Given the description of an element on the screen output the (x, y) to click on. 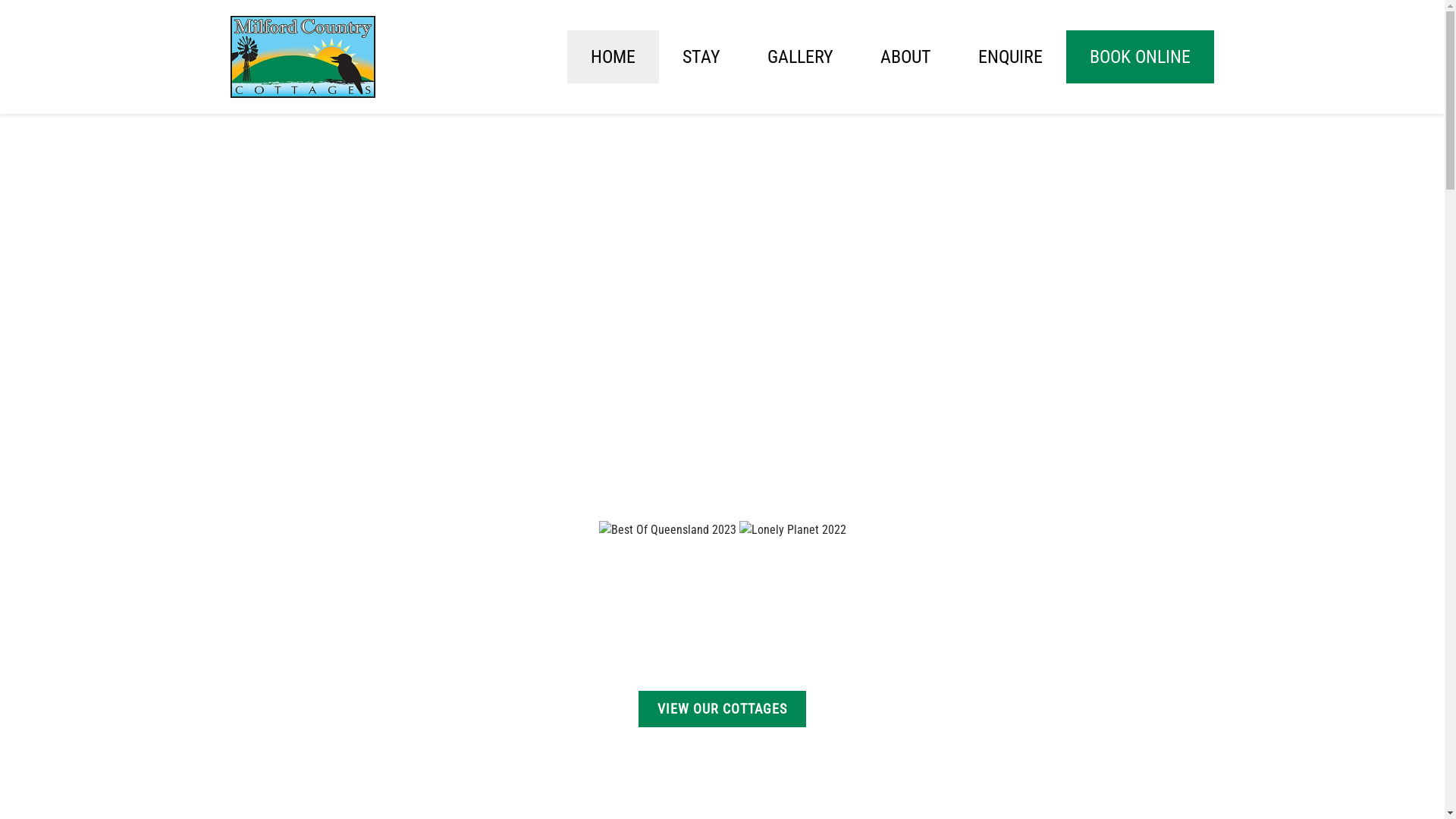
HOME Element type: text (612, 56)
ABOUT Element type: text (905, 56)
STAY Element type: text (700, 56)
VIEW OUR COTTAGES Element type: text (722, 708)
GALLERY Element type: text (799, 56)
BOOK ONLINE Element type: text (1140, 56)
ENQUIRE Element type: text (1009, 56)
